Given the description of an element on the screen output the (x, y) to click on. 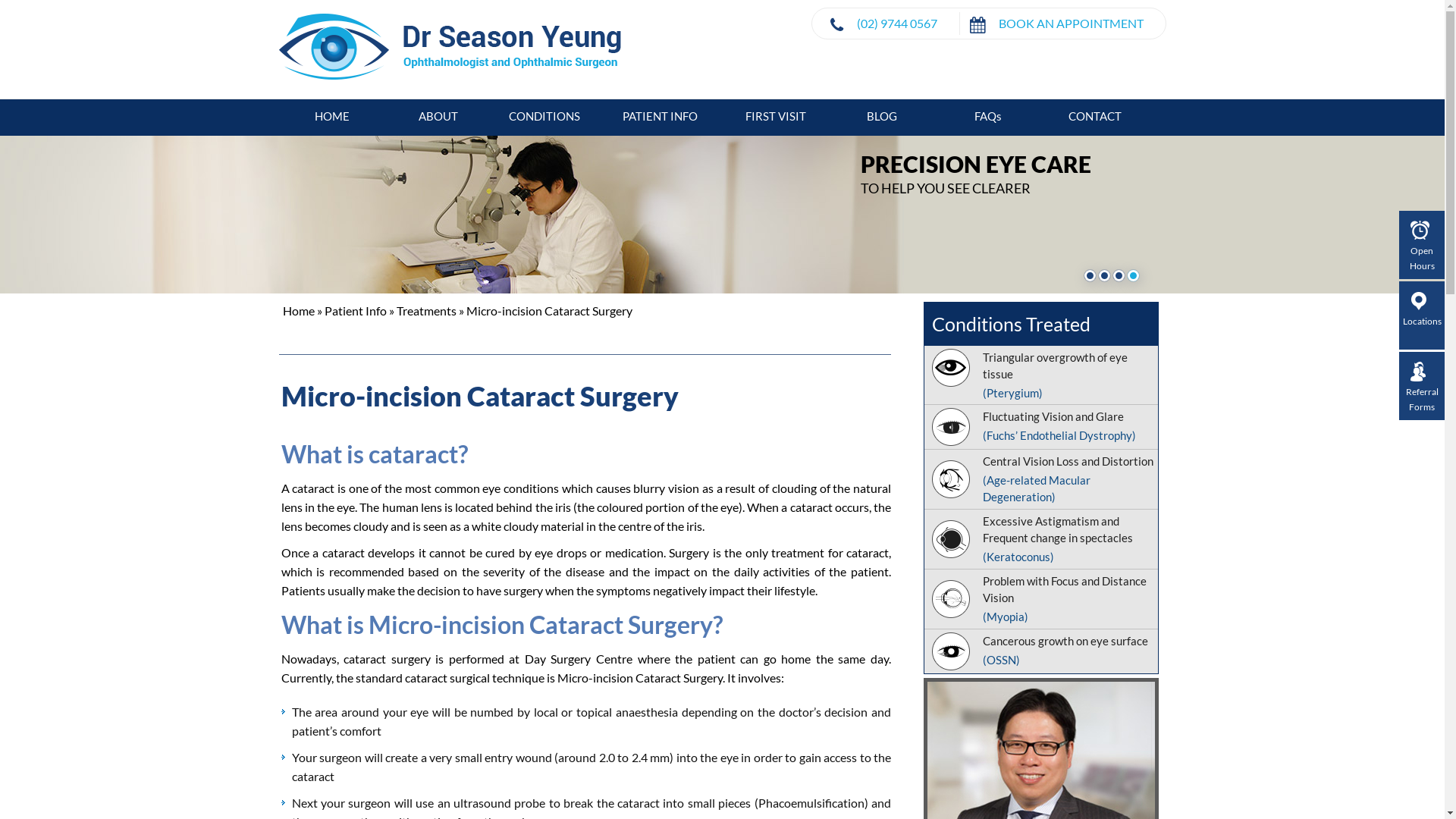
CONDITIONS Element type: text (544, 115)
Patient Info Element type: text (355, 310)
BOOK AN APPOINTMENT Element type: text (1070, 22)
FAQs Element type: text (988, 115)
CONTACT Element type: text (1094, 115)
Locations Element type: text (1421, 310)
Treatments Element type: text (425, 310)
ABOUT Element type: text (438, 115)
PATIENT INFO Element type: text (660, 115)
Top Element type: text (1425, 796)
Referral
Forms Element type: text (1421, 387)
(02) 9744 0567 Element type: text (896, 22)
Cancerous growth on eye surface
(OSSN) Element type: text (1040, 651)
FIRST VISIT Element type: text (774, 115)
HOME Element type: text (332, 115)
Open
Hours Element type: text (1421, 246)
Triangular overgrowth of eye tissue
(Pterygium) Element type: text (1040, 374)
Problem with Focus and Distance Vision
(Myopia) Element type: text (1040, 598)
BLOG Element type: text (881, 115)
Home Element type: text (297, 310)
